Given the description of an element on the screen output the (x, y) to click on. 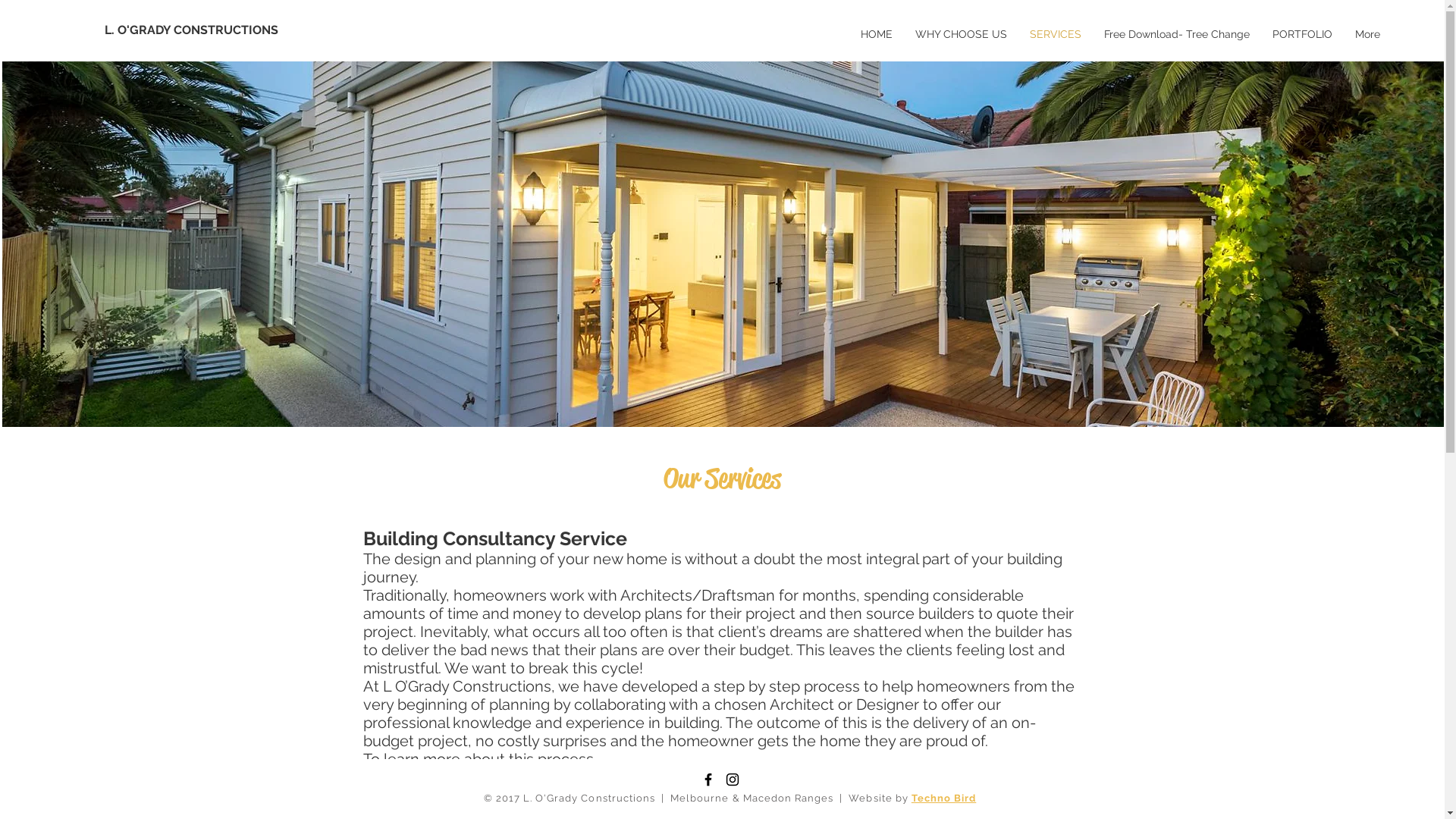
Techno Bird Element type: text (943, 797)
Free Download- Tree Change Element type: text (1176, 34)
PORTFOLIO Element type: text (1302, 34)
L. O'GRADY CONSTRUCTIONS Element type: text (233, 30)
Services_Header_cropped.jpg Element type: hover (722, 243)
HOME Element type: text (876, 34)
https://go.logc.com.au/building-consultancy-service/ Element type: text (702, 777)
WHY CHOOSE US Element type: text (960, 34)
SERVICES Element type: text (1055, 34)
